Given the description of an element on the screen output the (x, y) to click on. 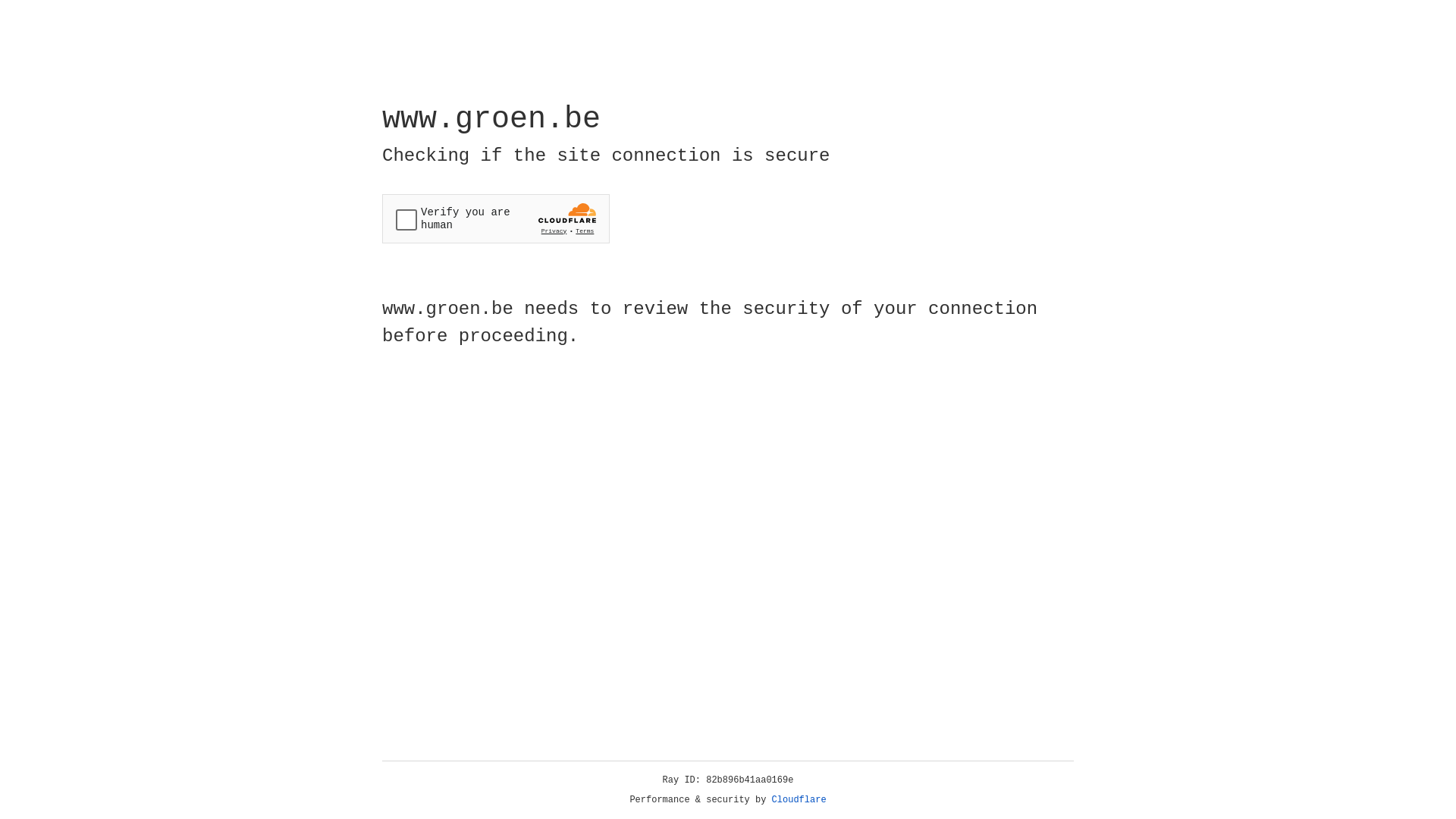
Cloudflare Element type: text (798, 799)
Widget containing a Cloudflare security challenge Element type: hover (495, 218)
